Given the description of an element on the screen output the (x, y) to click on. 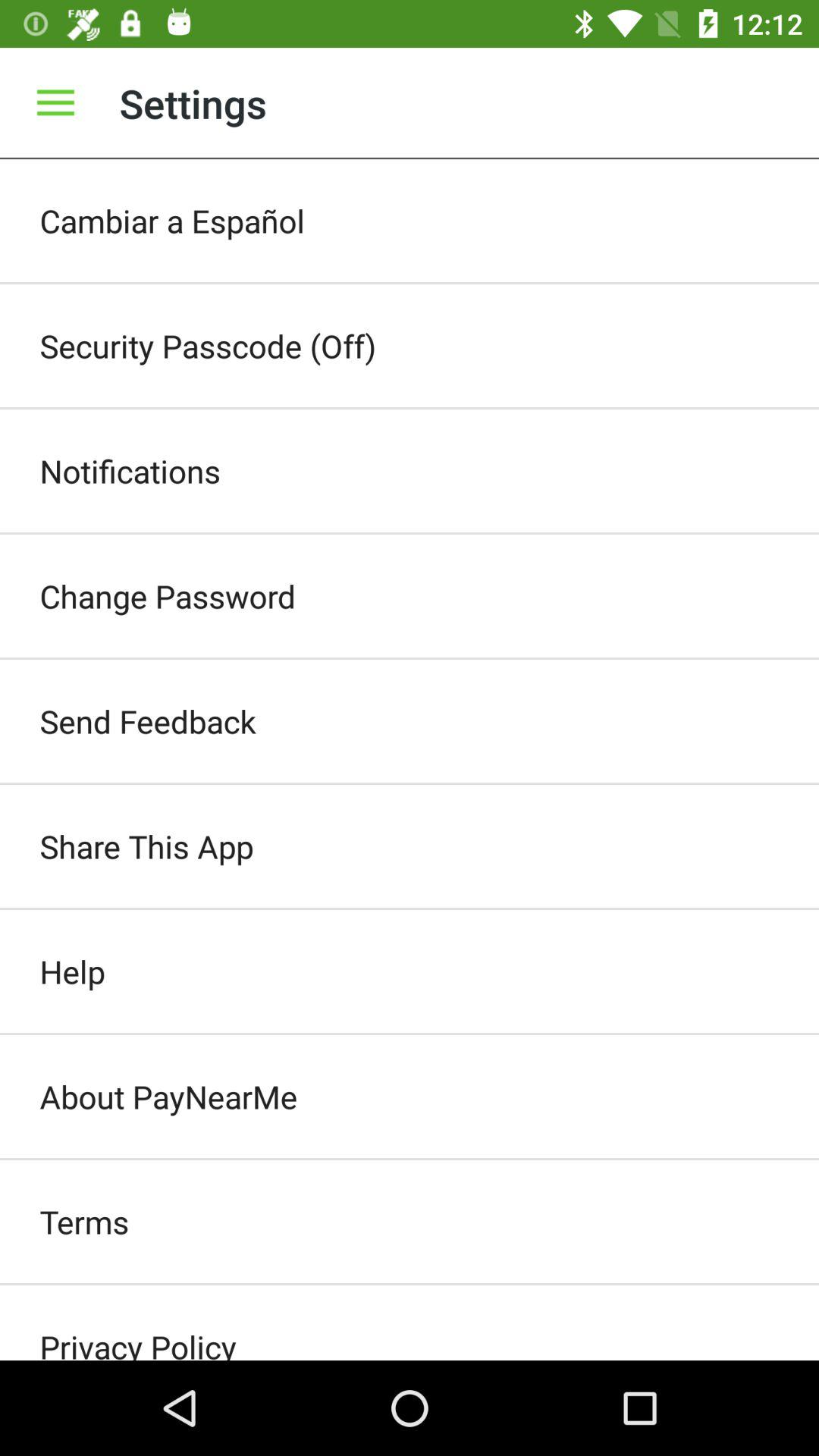
swipe until the notifications item (409, 470)
